Given the description of an element on the screen output the (x, y) to click on. 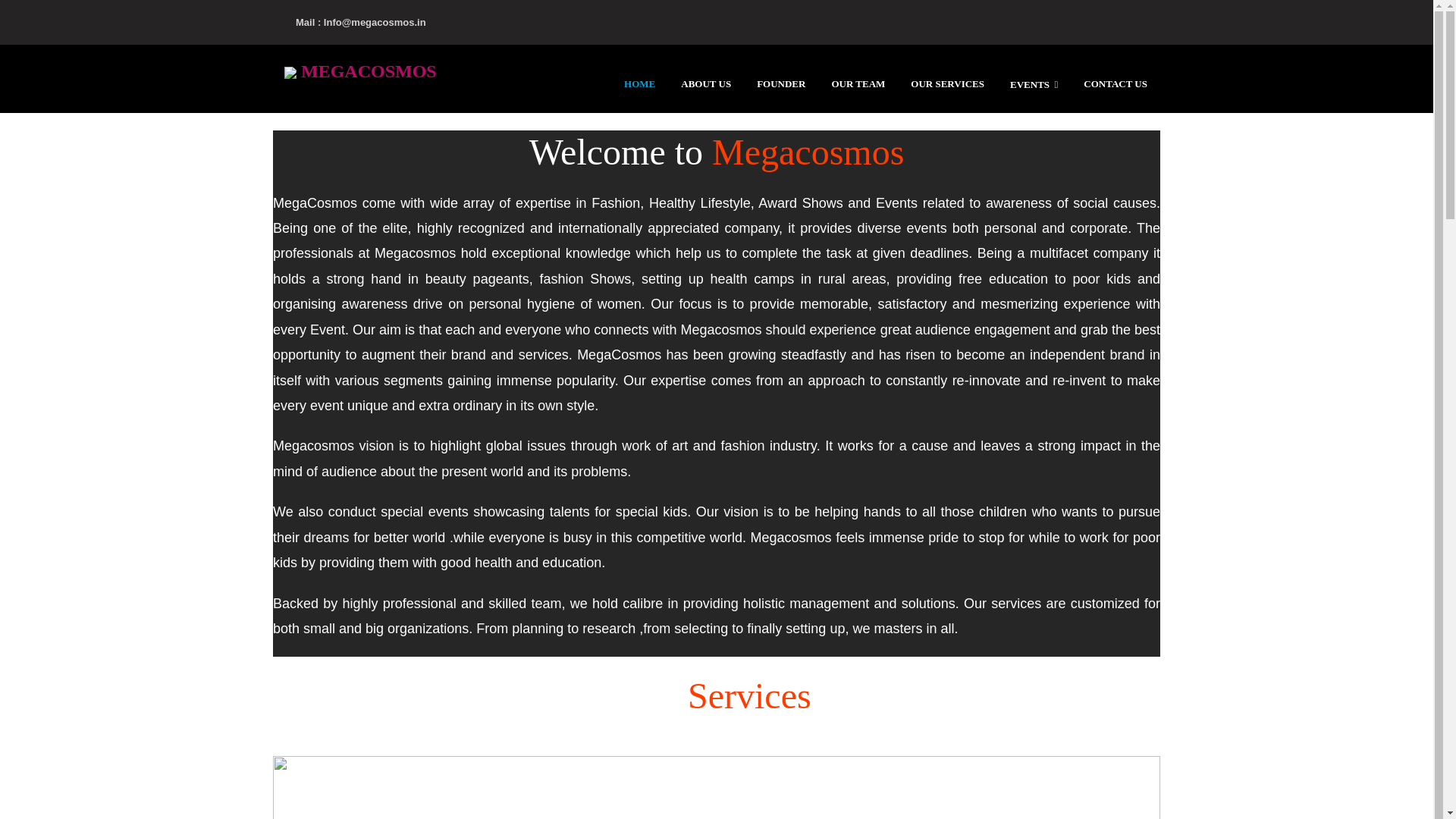
Home (638, 83)
FOUNDER (780, 83)
event production (946, 83)
ABOUT US (780, 83)
OUR TEAM (857, 83)
CONTACT US (1114, 83)
OUR SERVICES (946, 83)
ABOUT US (705, 83)
ABOUT US (705, 83)
MEGACOSMOS (360, 71)
EVENTS   (1033, 84)
event production (857, 83)
MEGACOSMOS (360, 71)
HOME (638, 83)
